Given the description of an element on the screen output the (x, y) to click on. 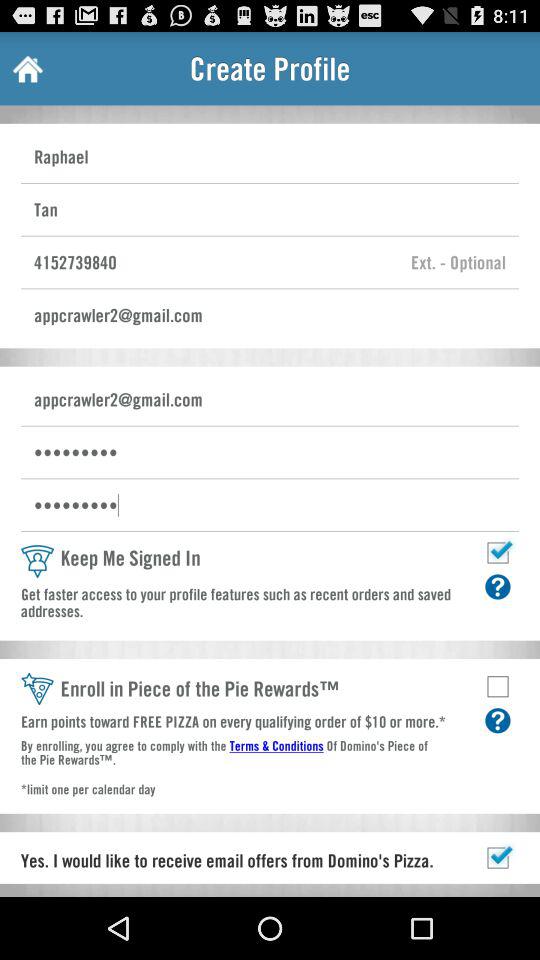
see more information (497, 720)
